Given the description of an element on the screen output the (x, y) to click on. 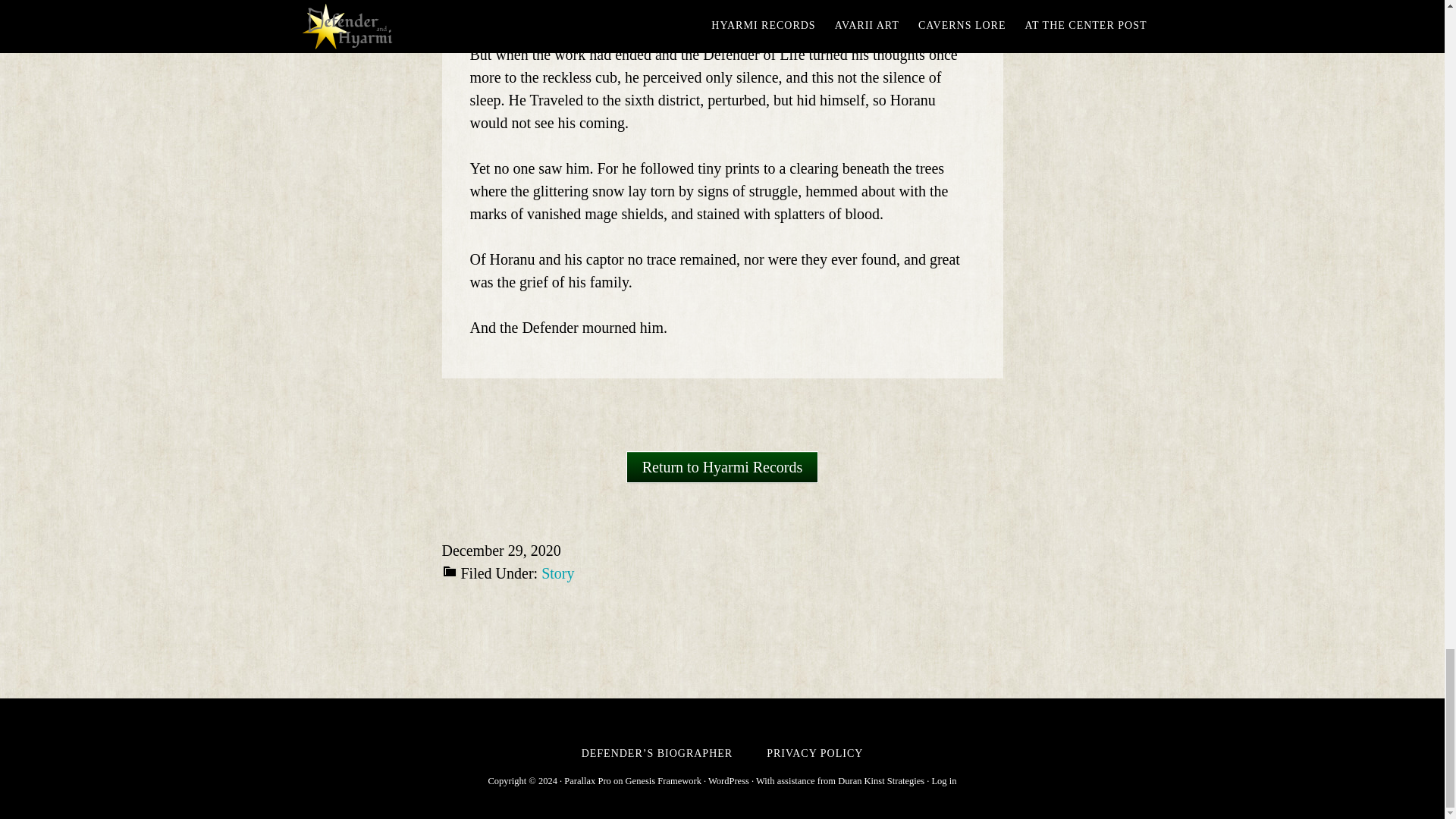
PRIVACY POLICY (815, 753)
Parallax Pro (587, 780)
Genesis Framework (663, 780)
WordPress (728, 780)
Return to Hyarmi Records (722, 467)
Log in (943, 780)
Duran Kinst Strategies (881, 780)
Story (557, 573)
